Given the description of an element on the screen output the (x, y) to click on. 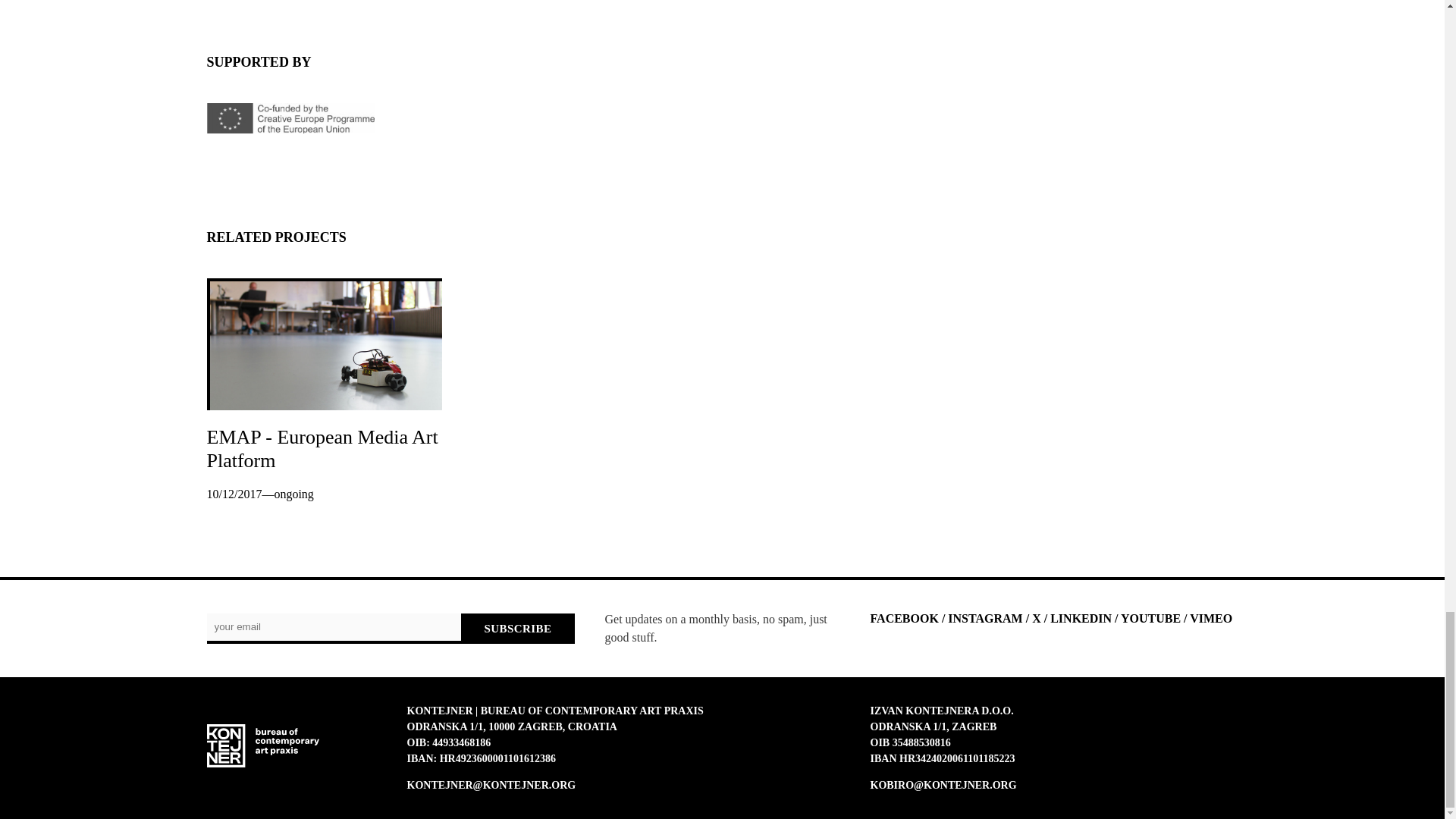
FACEBOOK (904, 617)
INSTAGRAM (984, 617)
LINKEDIN (1080, 617)
EMAP - European Media Art Platform (322, 448)
YOUTUBE (1150, 617)
Subscribe (517, 628)
Subscribe (517, 628)
